Given the description of an element on the screen output the (x, y) to click on. 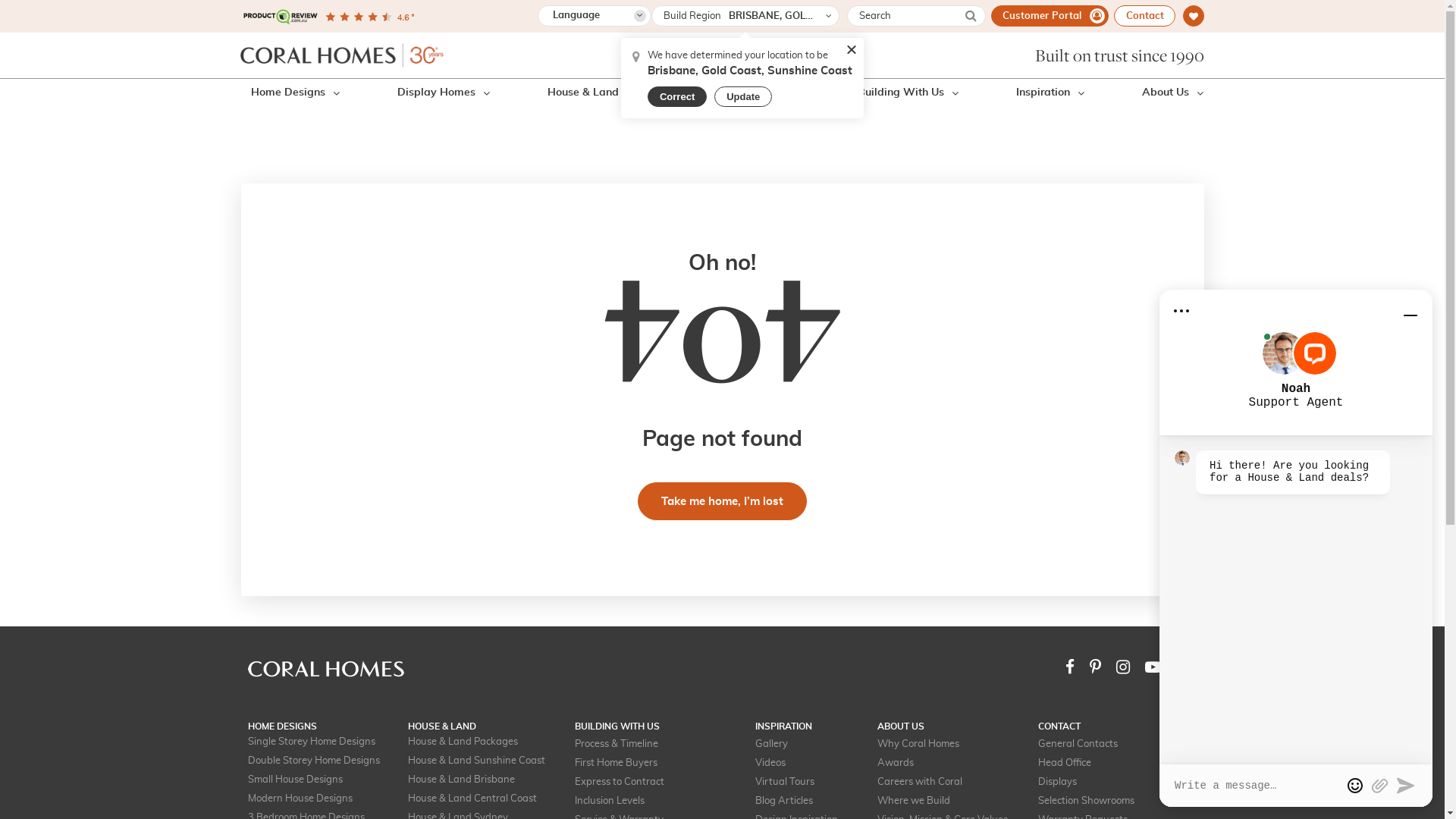
Display Homes Element type: text (443, 92)
Awards Element type: text (895, 763)
Modern House Designs Element type: text (299, 798)
Search Element type: text (1150, 48)
Contact Element type: text (1144, 15)
Customer Portal Element type: text (1050, 15)
Why Coral Homes Element type: text (918, 744)
Double Storey Home Designs Element type: text (313, 760)
House & Land Central Coast Element type: text (471, 798)
Process & Timeline Element type: text (616, 744)
Virtual Tours Element type: text (784, 782)
Selection Showrooms Element type: text (1086, 801)
House & Land Brisbane Element type: text (460, 779)
Update Element type: text (742, 96)
Pricing Element type: text (693, 92)
Inclusion Levels Element type: text (609, 801)
Single Storey Home Designs Element type: text (310, 741)
Displays Element type: text (1057, 782)
Careers with Coral Element type: text (919, 782)
Correct Element type: text (676, 96)
Blog Articles Element type: text (783, 801)
Offers Element type: text (784, 92)
Videos Element type: text (770, 763)
About Us Element type: text (1172, 92)
First Home Buyers Element type: text (615, 763)
Gallery Element type: text (771, 744)
Where we Build Element type: text (913, 801)
House & Land Packages Element type: text (462, 741)
Inspiration Element type: text (1050, 92)
Home Designs Element type: text (294, 92)
Head Office Element type: text (1064, 763)
House & Land Sunshine Coast Element type: text (476, 760)
Express to Contract Element type: text (619, 782)
House & Land Element type: text (582, 92)
Building With Us Element type: text (908, 92)
Small House Designs Element type: text (294, 779)
General Contacts Element type: text (1077, 744)
